Given the description of an element on the screen output the (x, y) to click on. 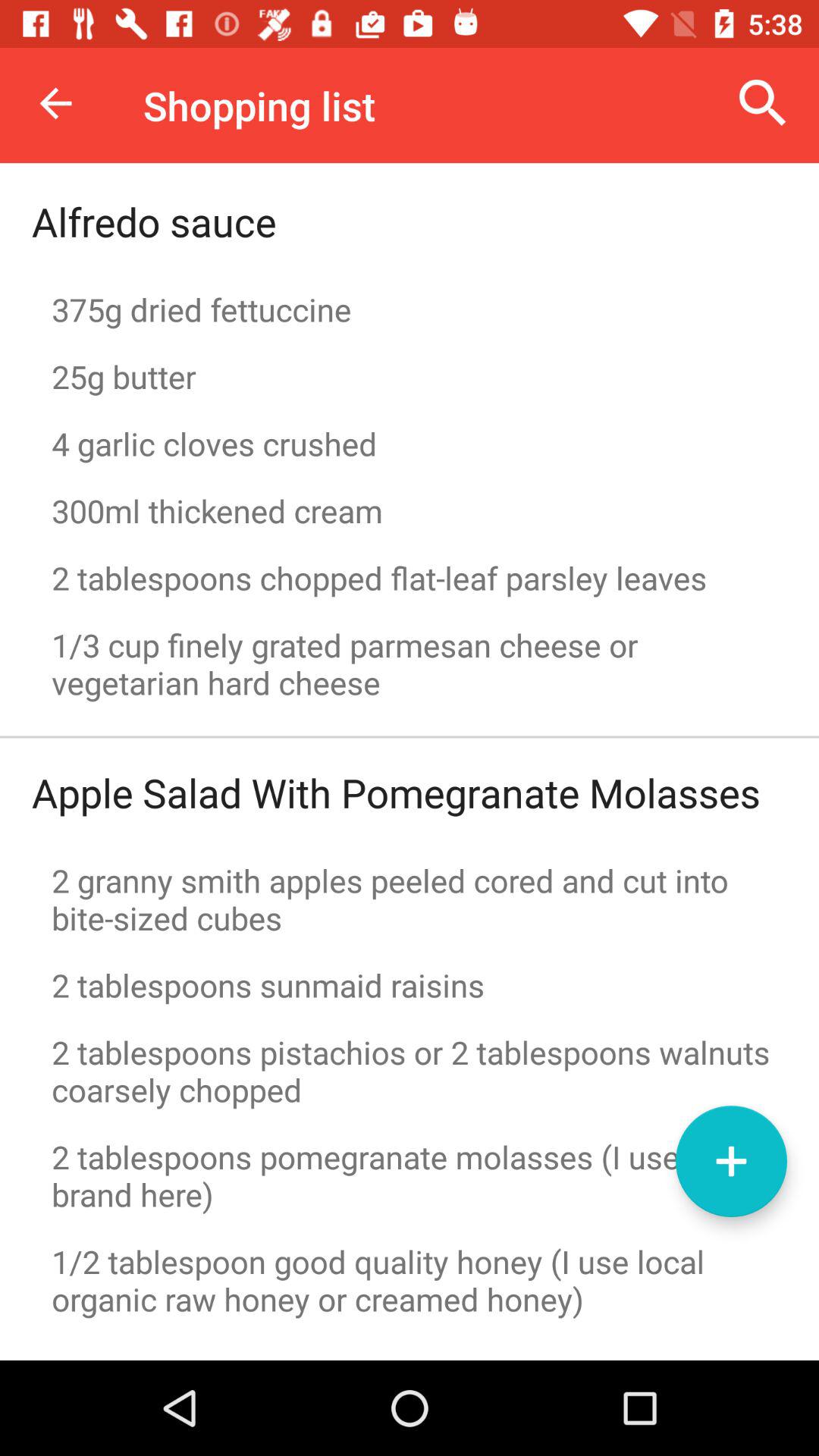
select the 4 garlic cloves (409, 443)
